Given the description of an element on the screen output the (x, y) to click on. 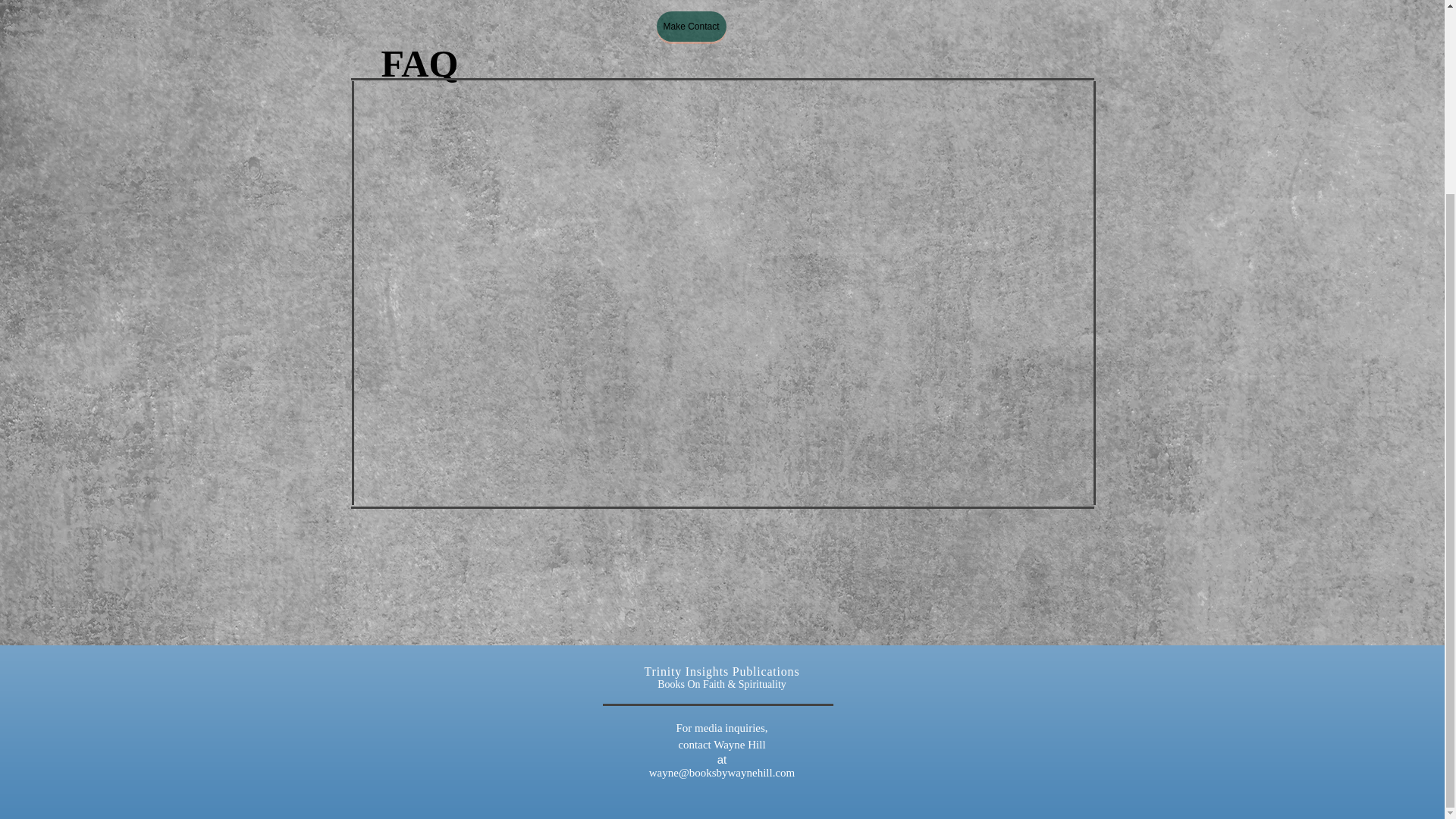
Make Contact (691, 26)
